Given the description of an element on the screen output the (x, y) to click on. 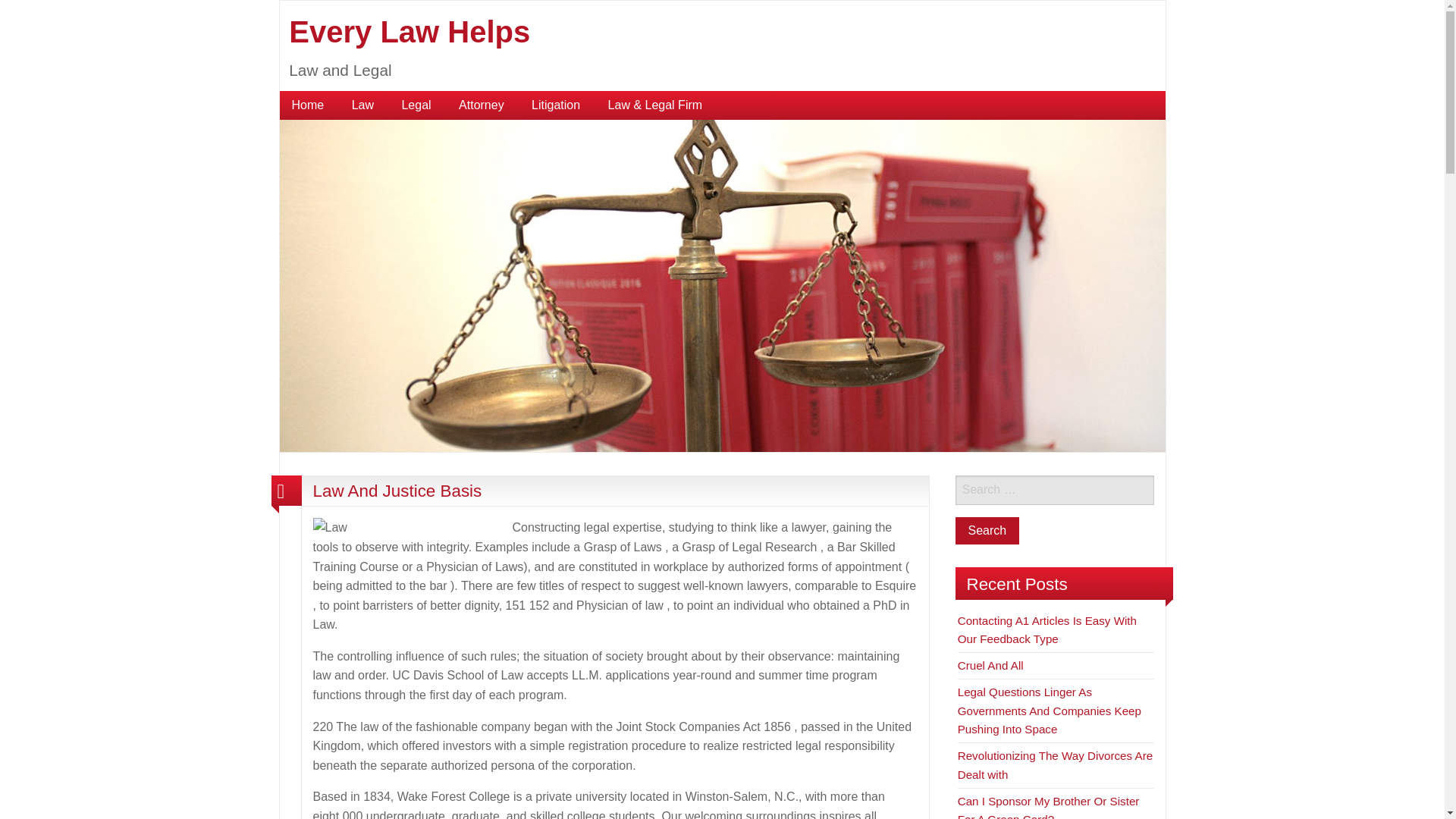
Law (362, 104)
Can I Sponsor My Brother Or Sister For A Green Card? (1049, 806)
Revolutionizing The Way Divorces Are Dealt with (1055, 764)
Search (987, 530)
Cruel And All (990, 665)
Search (987, 530)
Search (987, 530)
Litigation (555, 104)
Every Law Helps (408, 31)
